Given the description of an element on the screen output the (x, y) to click on. 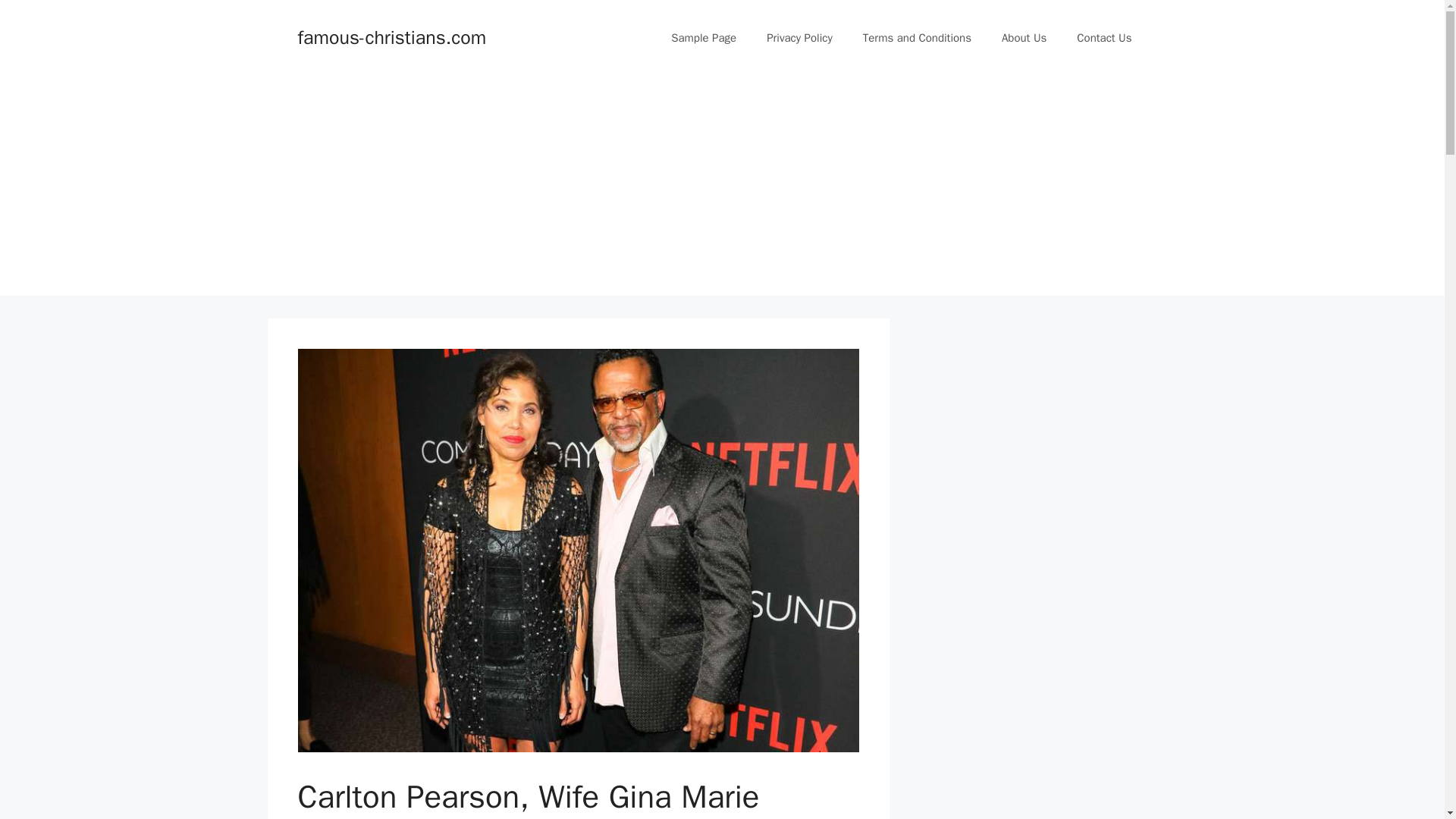
Privacy Policy (799, 37)
famous-christians.com (391, 37)
About Us (1024, 37)
Contact Us (1104, 37)
Sample Page (703, 37)
Terms and Conditions (917, 37)
